Given the description of an element on the screen output the (x, y) to click on. 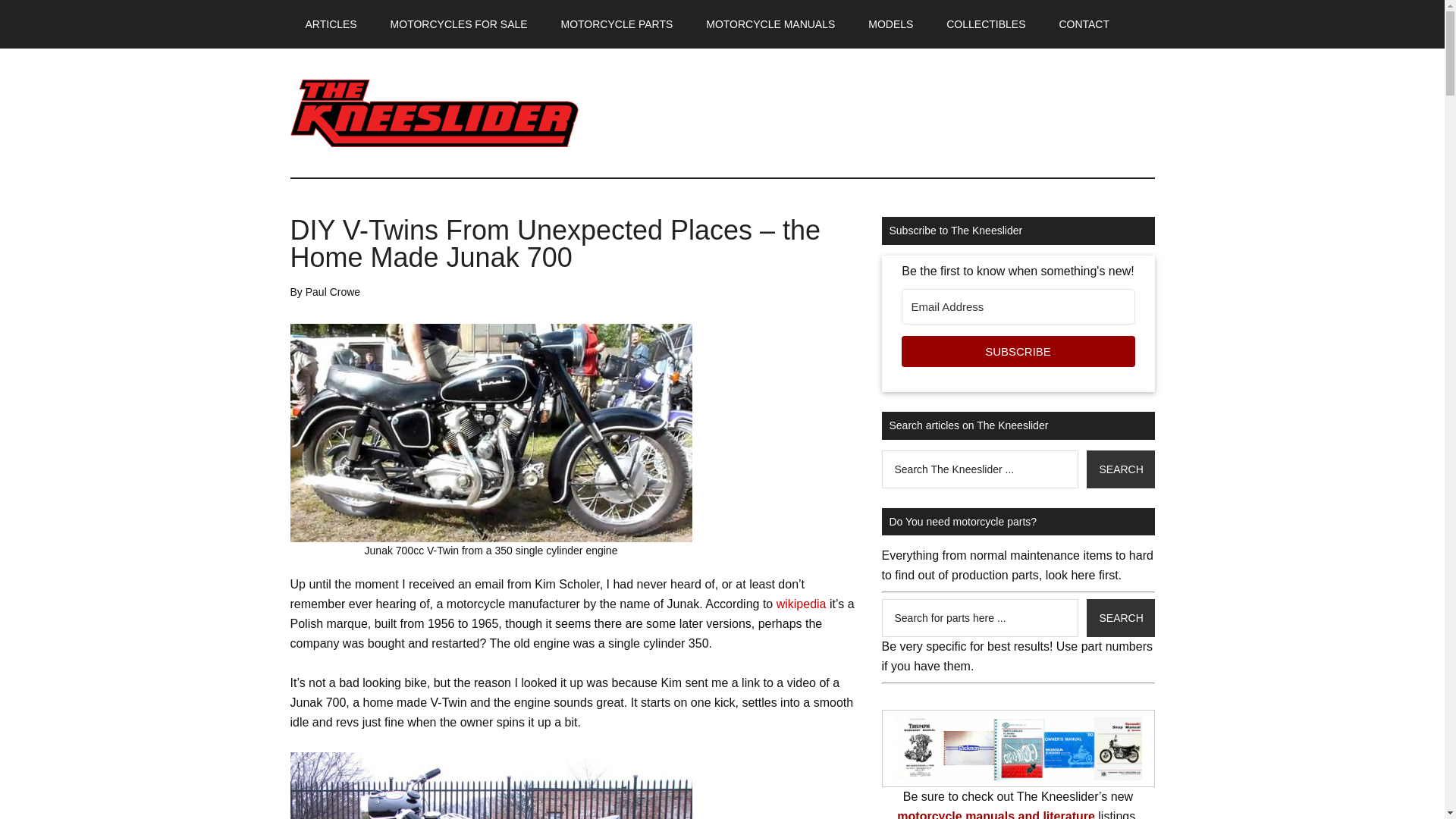
MOTORCYCLE PARTS (617, 24)
MOTORCYCLE MANUALS (770, 24)
Search (1120, 469)
COLLECTIBLES (986, 24)
The Kneeslider (433, 112)
MOTORCYCLES FOR SALE (459, 24)
Contact The Kneeslider (1083, 24)
Search (1120, 617)
Original Junak 350 for comparison  (490, 785)
Search (1120, 617)
